Given the description of an element on the screen output the (x, y) to click on. 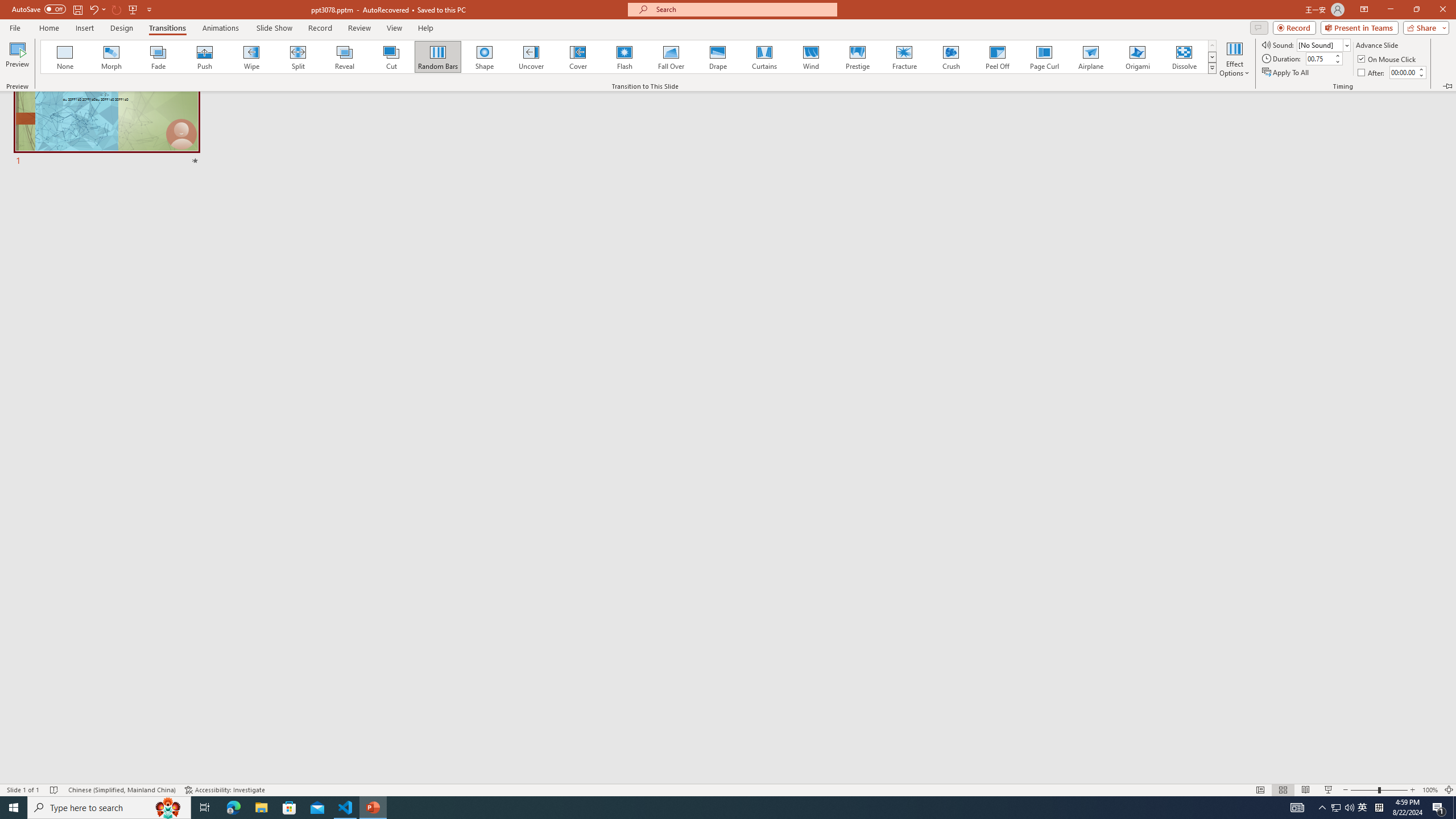
Microsoft Edge (233, 807)
